Given the description of an element on the screen output the (x, y) to click on. 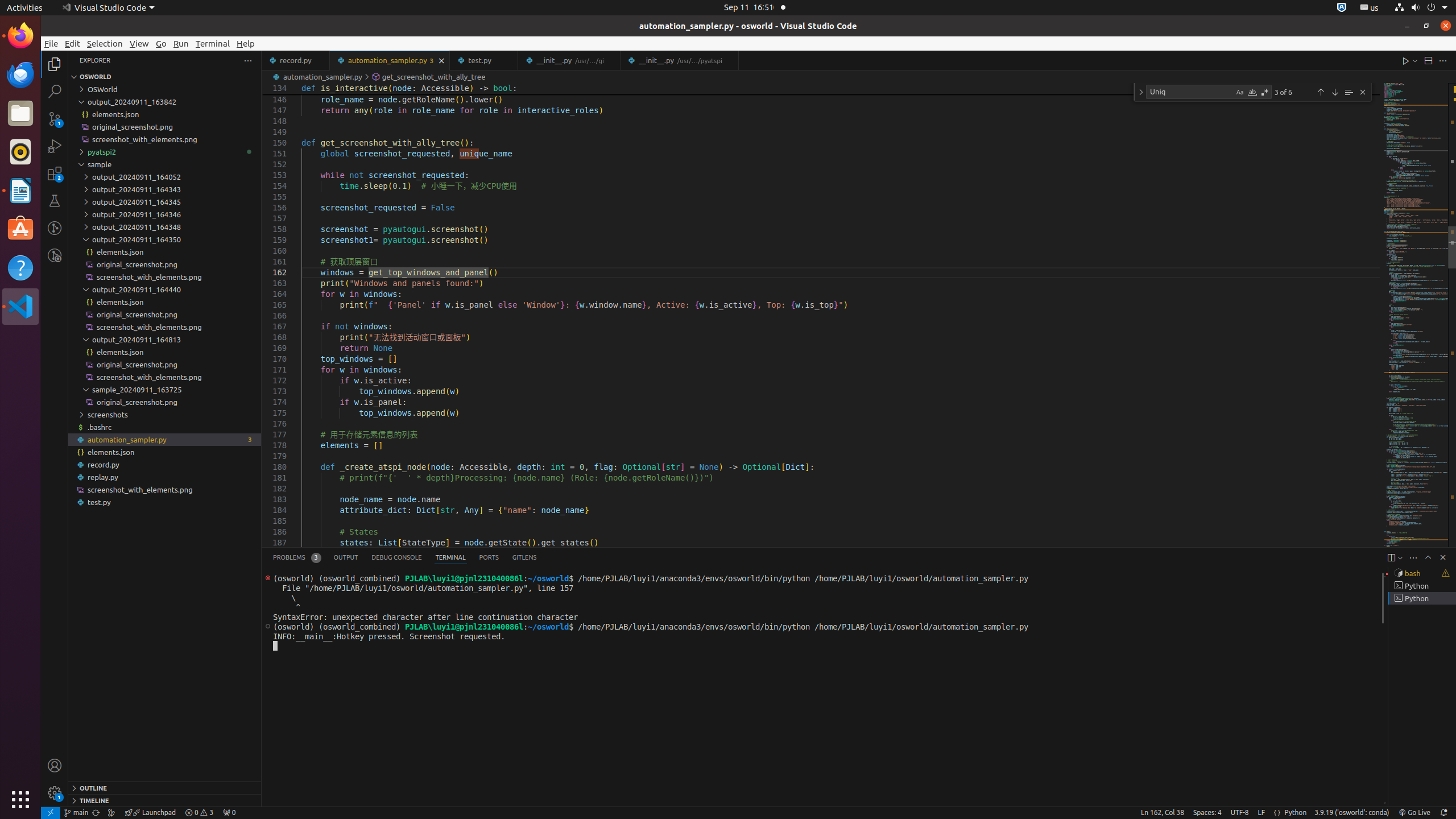
pyatspi2 Element type: tree-item (164, 151)
output_20240911_163842 Element type: tree-item (164, 101)
Run or Debug... Element type: push-button (1414, 60)
remote Element type: push-button (50, 812)
